Given the description of an element on the screen output the (x, y) to click on. 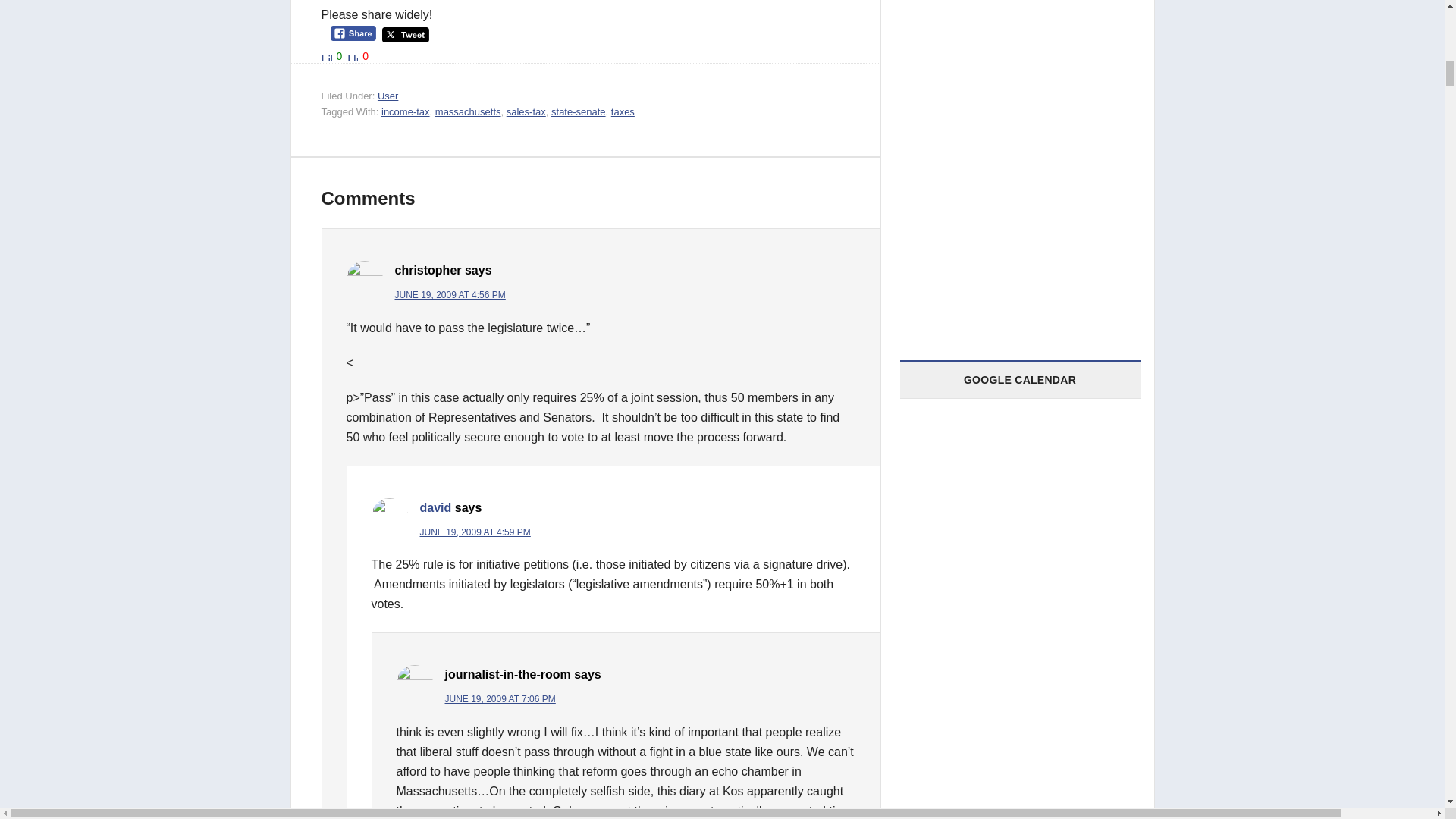
Facebook Share (353, 33)
Tweet (405, 35)
massachusetts (467, 111)
User (387, 95)
taxes (622, 111)
david (435, 507)
JUNE 19, 2009 AT 7:06 PM (499, 698)
JUNE 19, 2009 AT 4:59 PM (475, 532)
income-tax (405, 111)
sales-tax (526, 111)
